Given the description of an element on the screen output the (x, y) to click on. 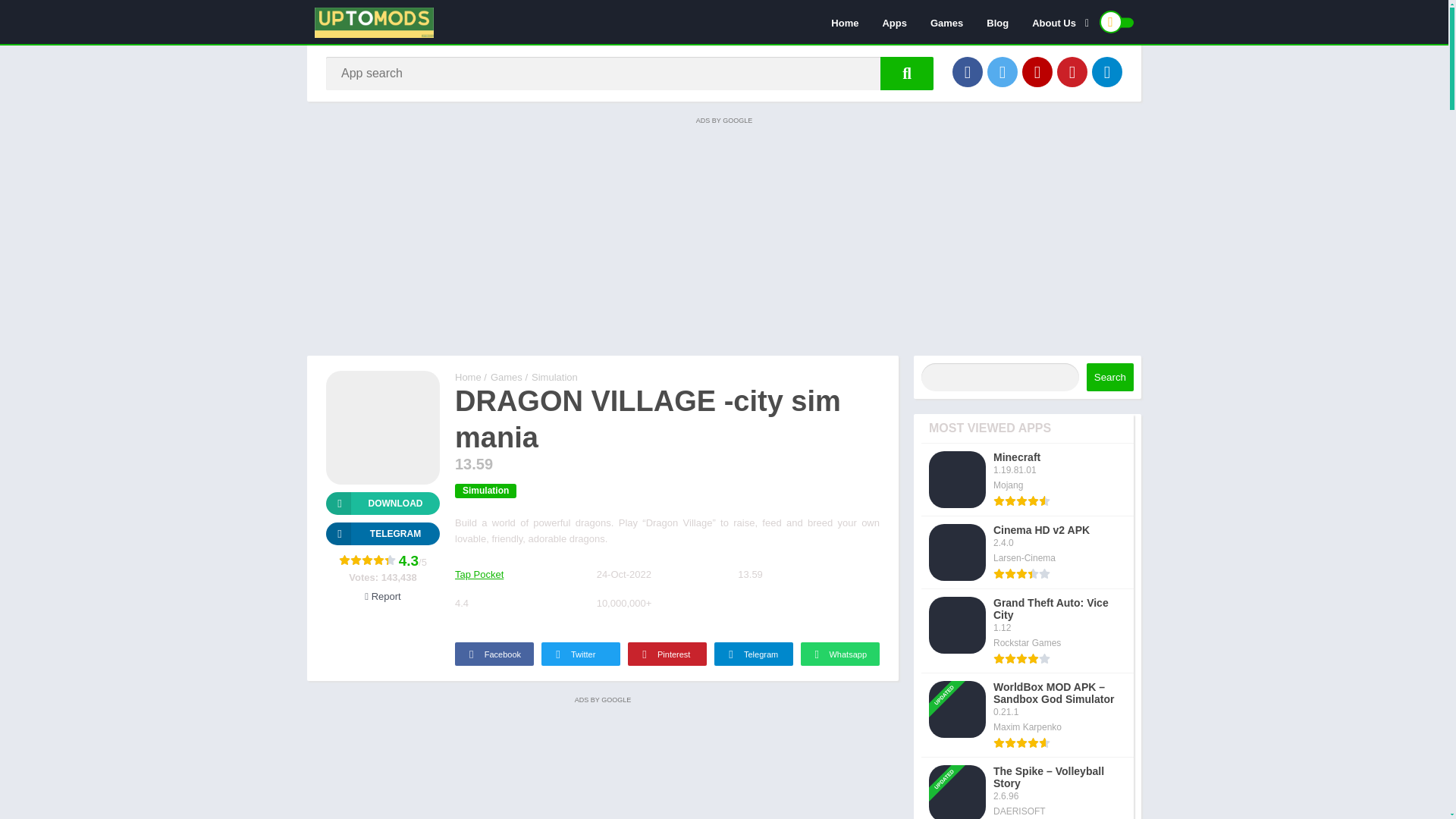
DOWNLOAD (382, 503)
Games (506, 377)
Whatsapp (839, 653)
Download (382, 503)
Blog (997, 22)
UpToMods.Com (467, 377)
Twitter (580, 653)
Facebook (494, 653)
Twitter (1002, 71)
Simulation (485, 490)
YouTube (1037, 71)
Simulation (554, 377)
Home (844, 22)
Telegram (382, 533)
App search (906, 73)
